Given the description of an element on the screen output the (x, y) to click on. 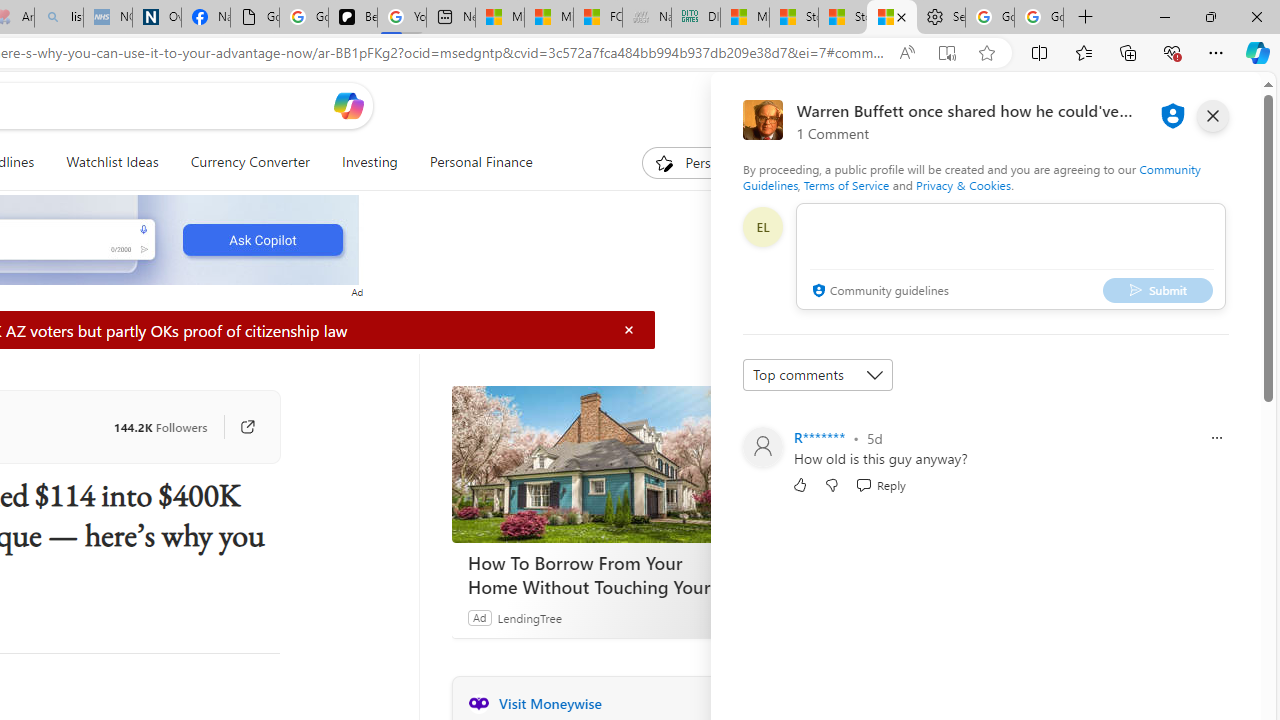
Currency Converter (250, 162)
Stocks - MSN (842, 17)
Be Smart | creating Science videos | Patreon (353, 17)
DITOGAMES AG Imprint (696, 17)
Open settings (1216, 105)
